Given the description of an element on the screen output the (x, y) to click on. 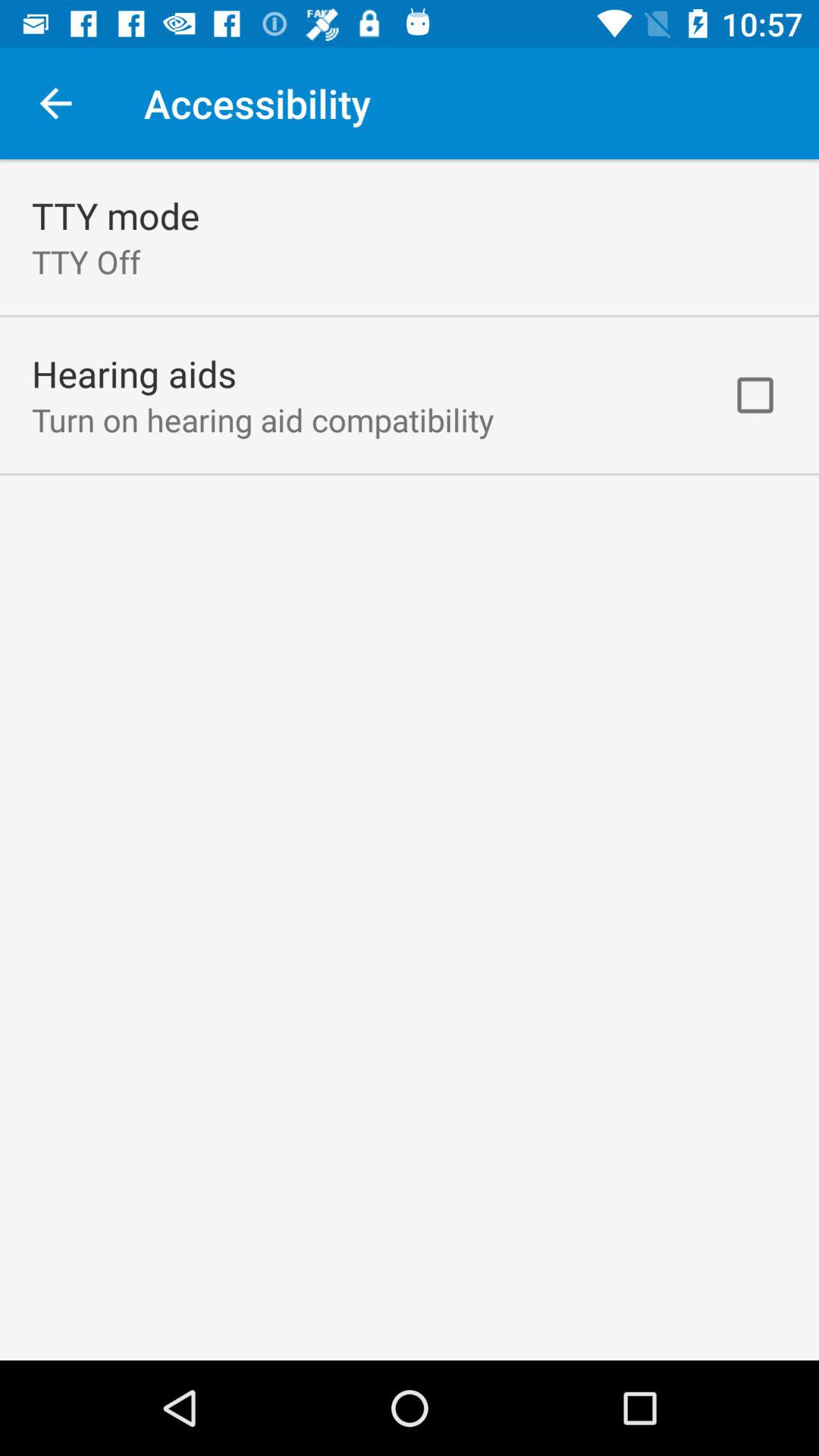
swipe to tty off icon (85, 261)
